Given the description of an element on the screen output the (x, y) to click on. 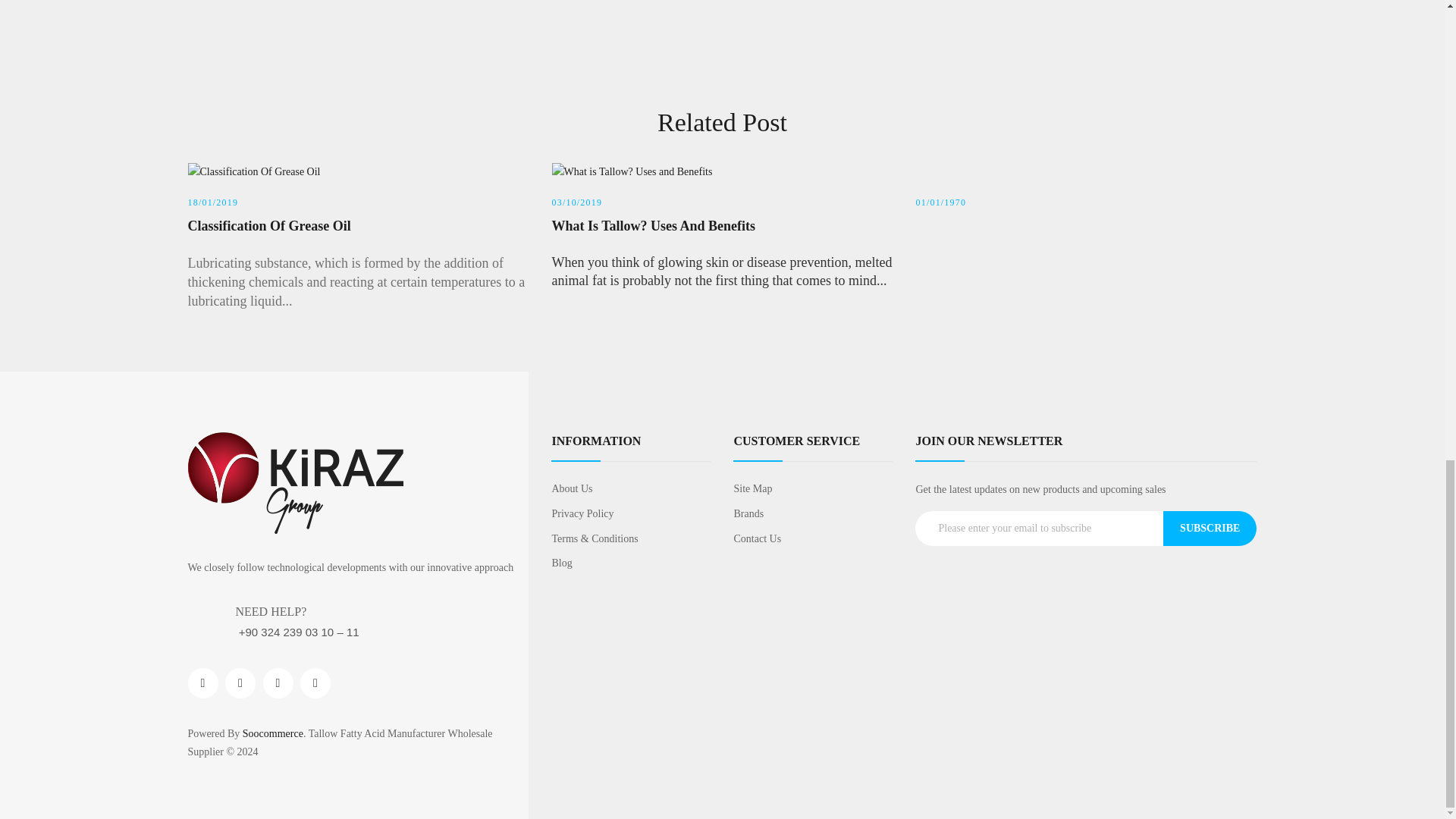
Twitter (240, 683)
Youtube (314, 683)
What Is Tallow? Uses And Benefits (722, 226)
Instagram (277, 683)
Facebook (202, 683)
Classification Of Grease Oil (358, 226)
